Given the description of an element on the screen output the (x, y) to click on. 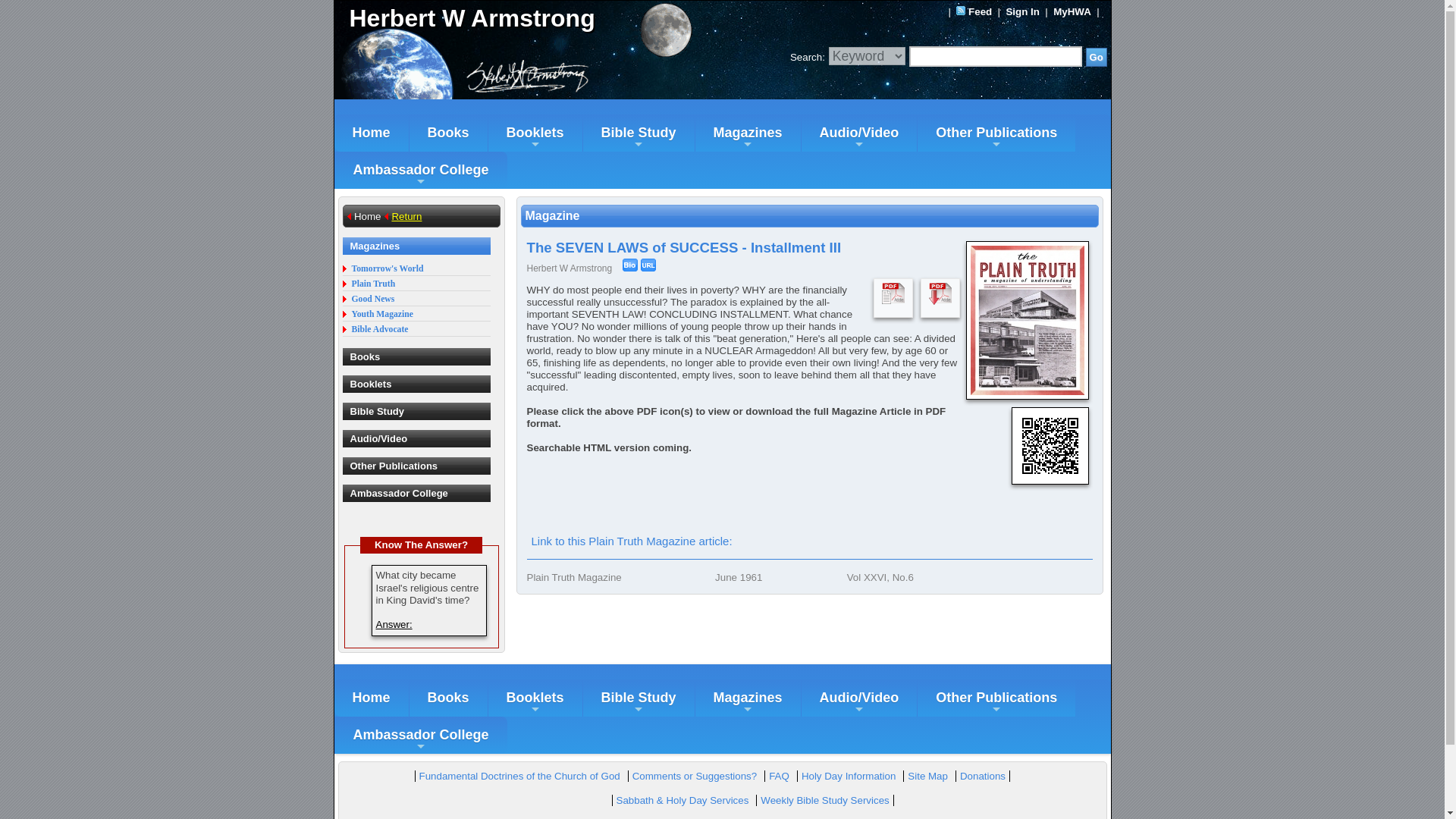
Magazines (747, 132)
Books (448, 132)
Herbert W Armstrong Library (528, 18)
Link to this Plain Truth Magazine article: (630, 540)
Click down arrow to see all 3 search options. (866, 55)
Bible Study (638, 132)
Go (1096, 56)
Feed (979, 11)
